Given the description of an element on the screen output the (x, y) to click on. 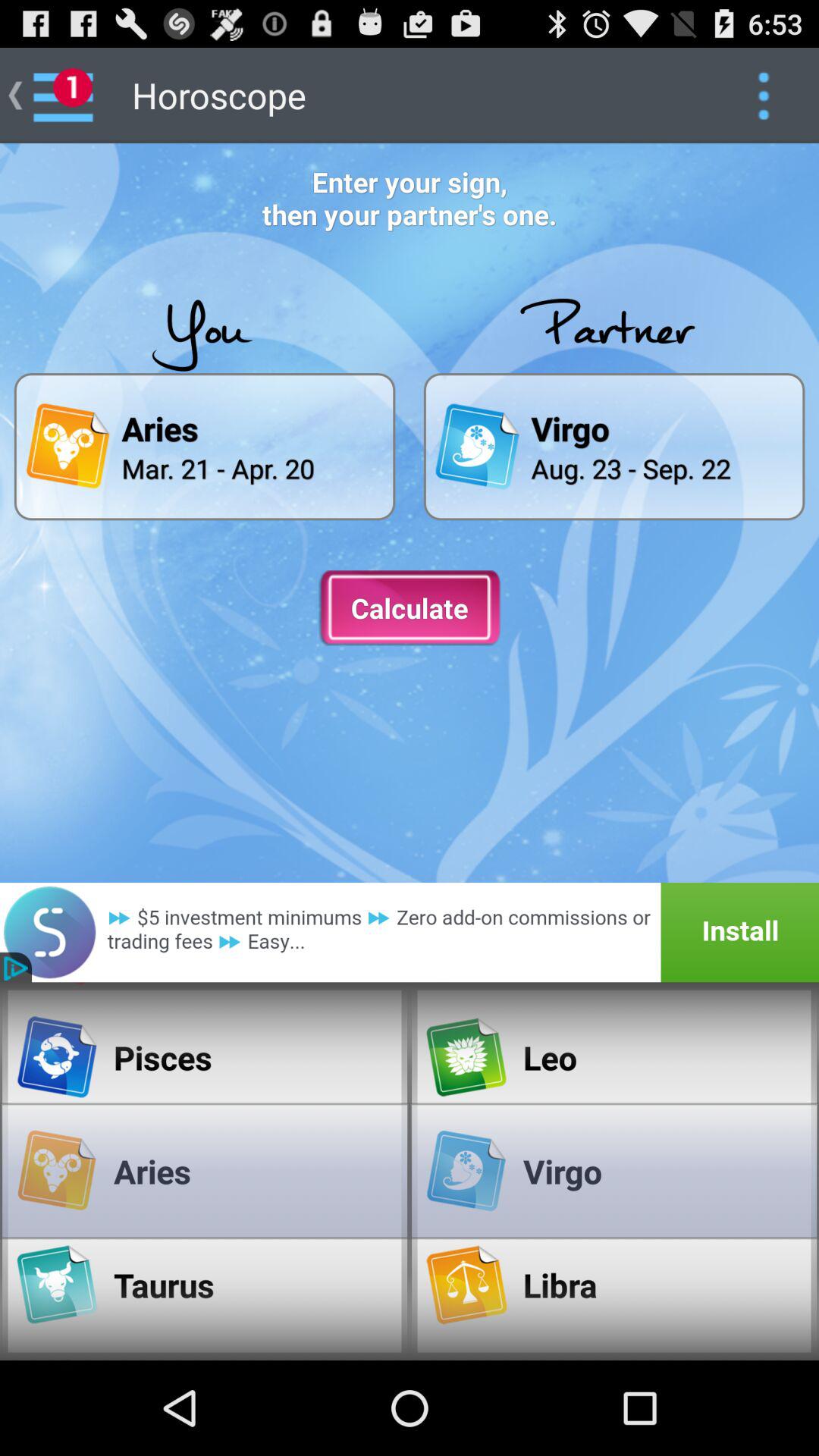
launch app next to horoscope (763, 95)
